Given the description of an element on the screen output the (x, y) to click on. 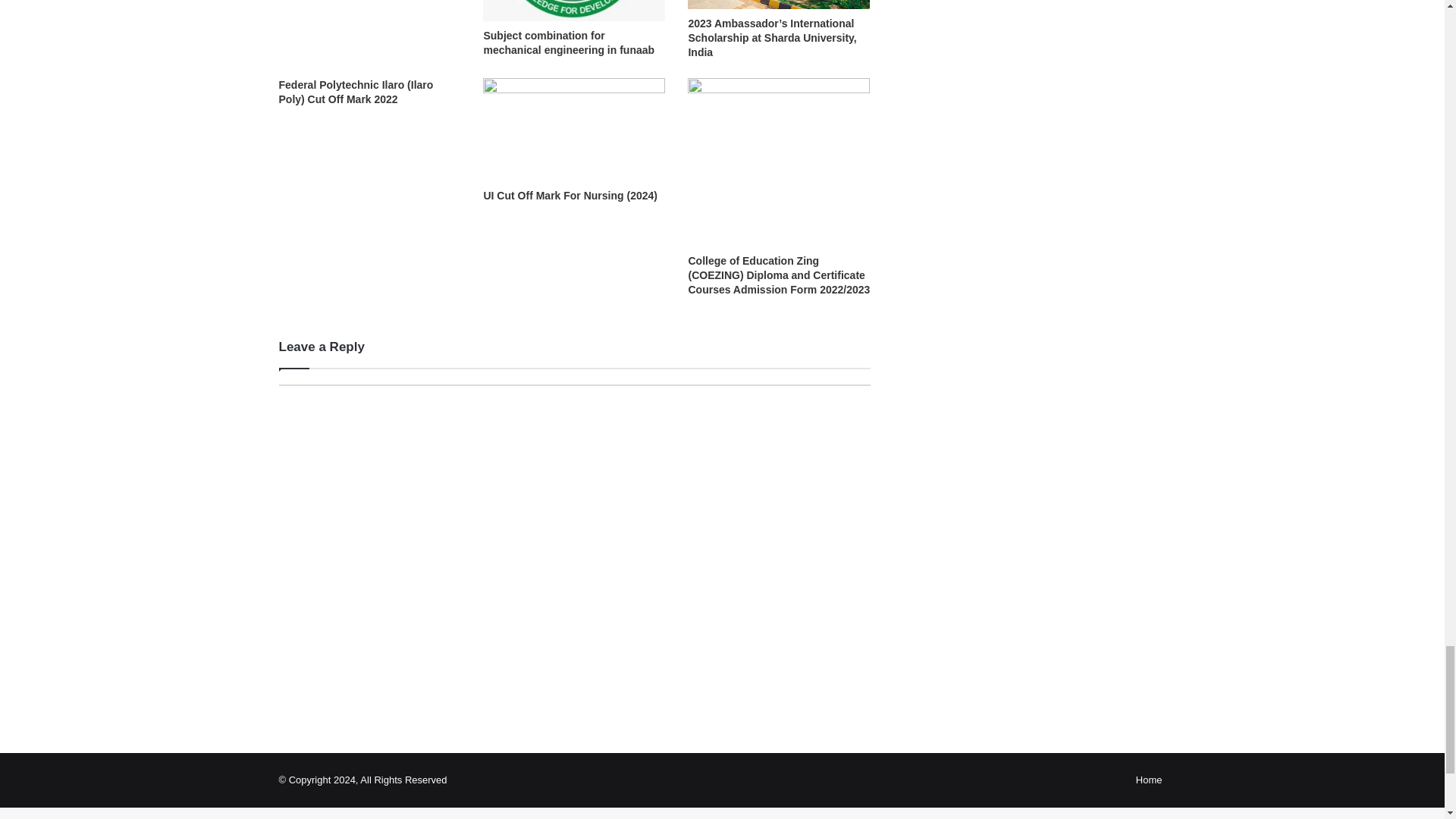
Subject combination for mechanical engineering in funaab (568, 42)
